Given the description of an element on the screen output the (x, y) to click on. 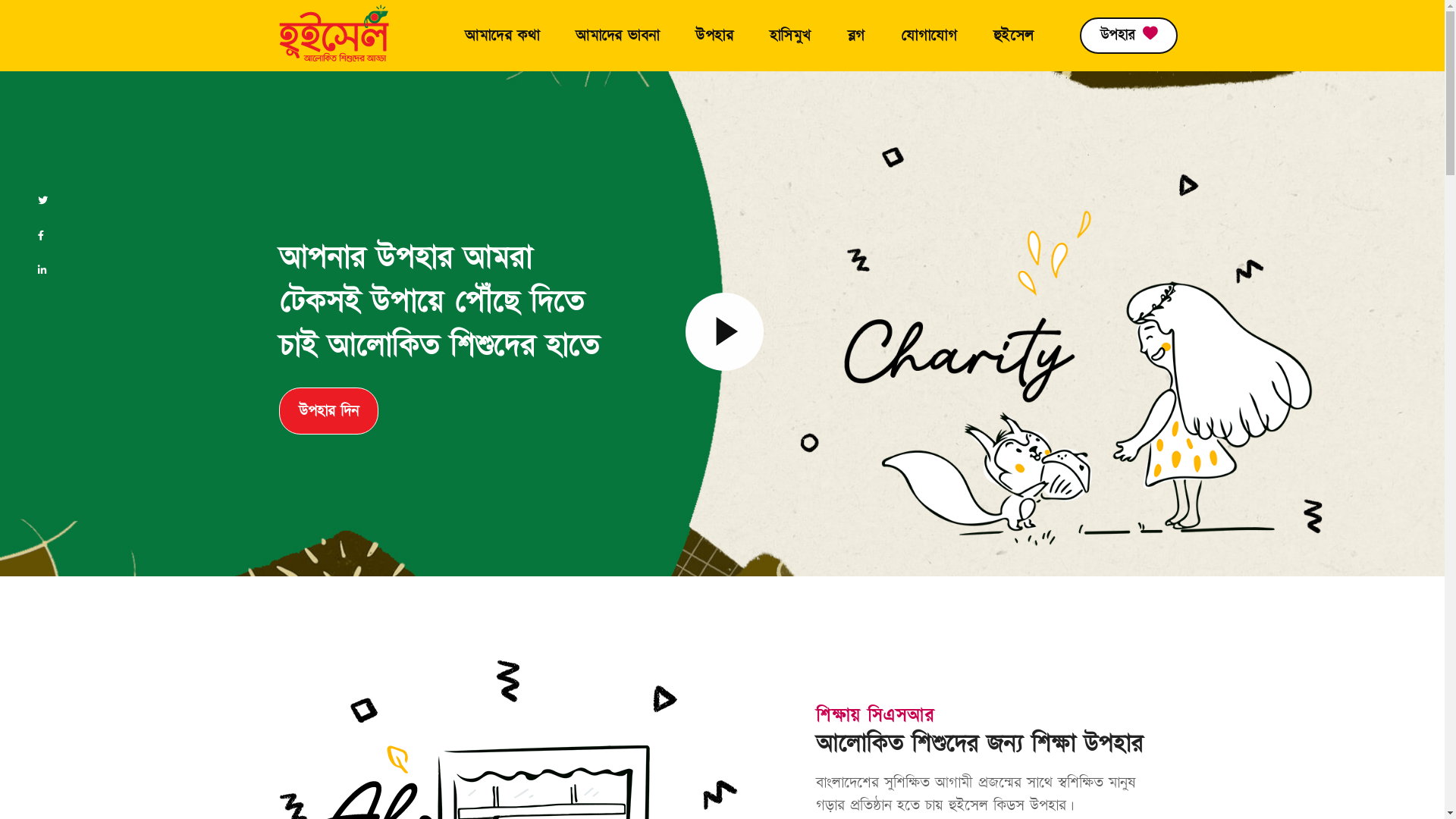
home11-3-1 Element type: hover (1061, 346)
